Given the description of an element on the screen output the (x, y) to click on. 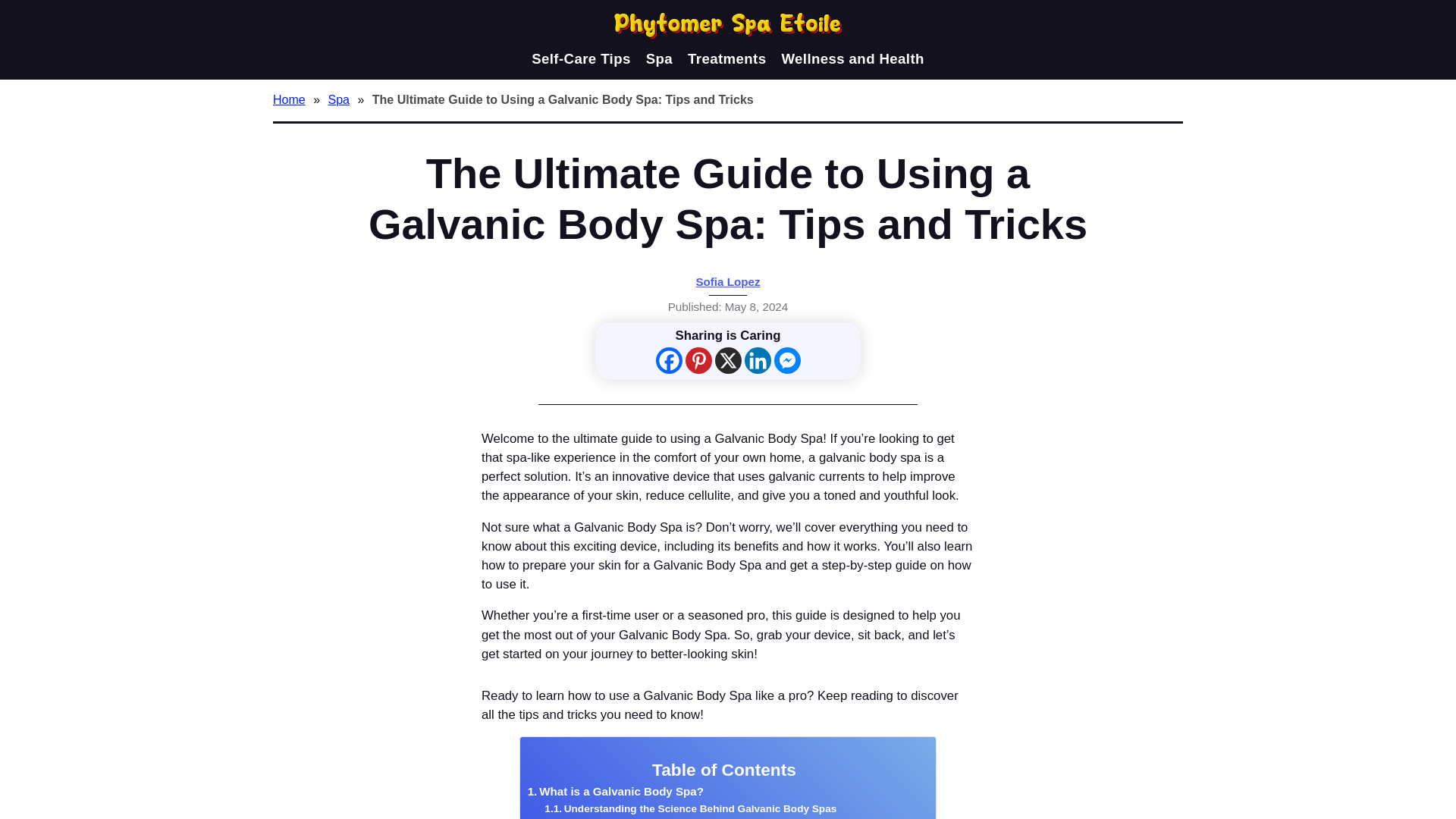
Spa (340, 99)
What is a Galvanic Body Spa? (615, 791)
Linkedin (757, 360)
Pinterest (698, 360)
What is a Galvanic Body Spa? (615, 791)
Wellness and Health (851, 58)
X (727, 360)
Spa (659, 58)
Home (291, 99)
Understanding the Science Behind Galvanic Body Spas (689, 808)
Self-Care Tips (580, 58)
Sofia Lopez (727, 281)
Treatments (726, 58)
